Given the description of an element on the screen output the (x, y) to click on. 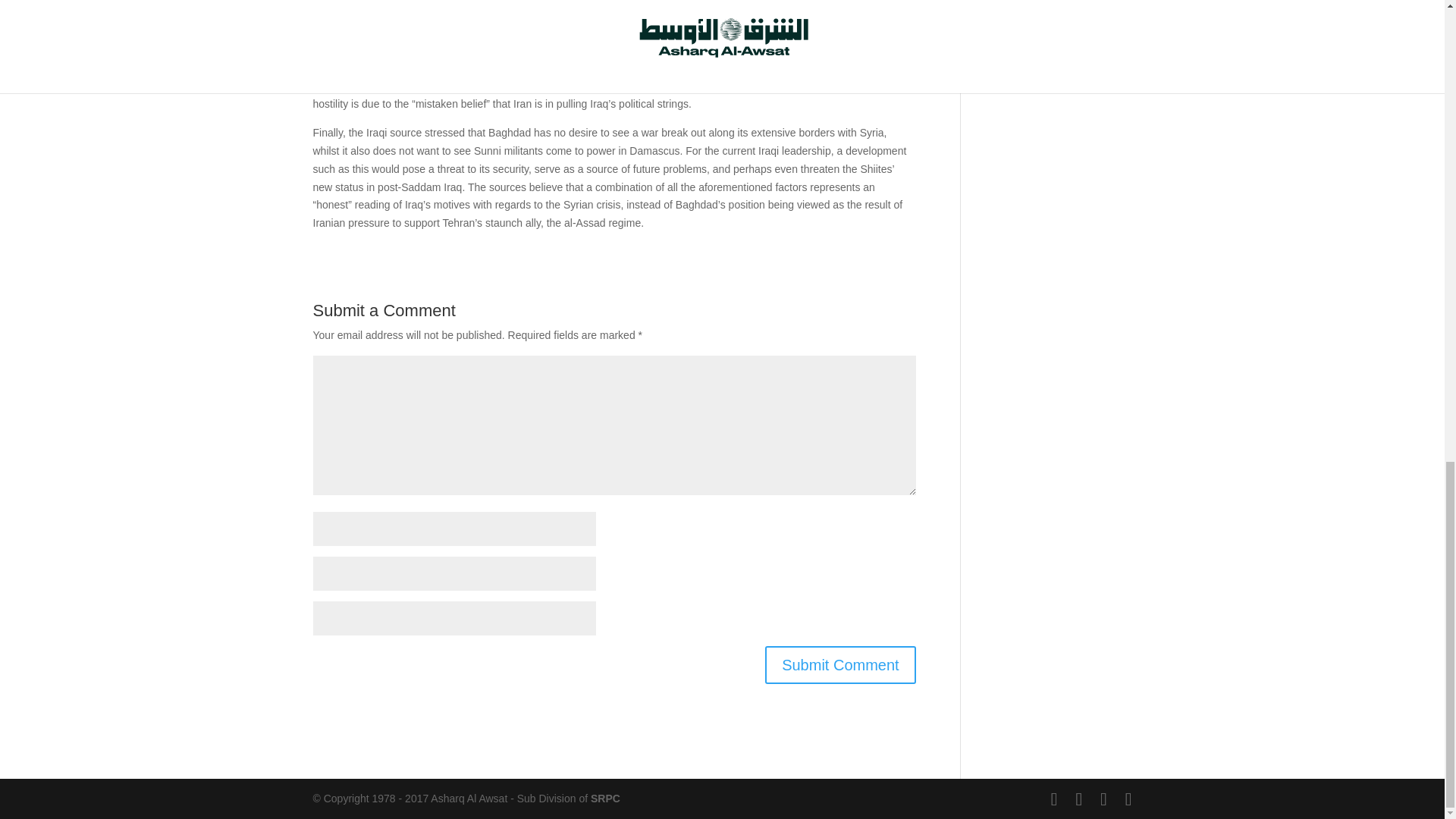
SRPC (605, 798)
Submit Comment (840, 664)
Submit Comment (840, 664)
